Given the description of an element on the screen output the (x, y) to click on. 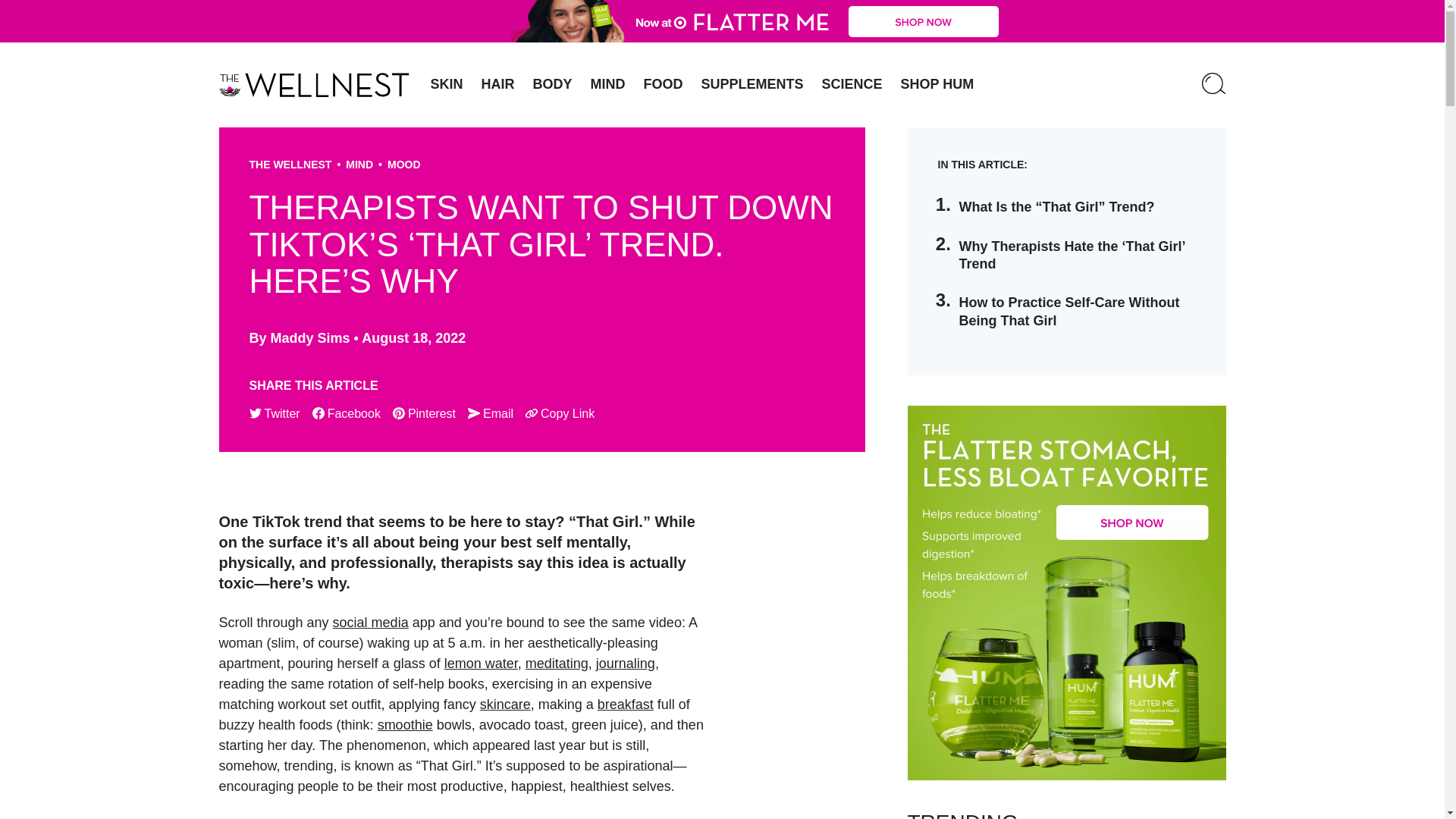
HUM Nutrition Blog (721, 21)
MIND (607, 84)
SUPPLEMENTS (752, 84)
SHOP HUM (937, 84)
MIND (359, 164)
HAIR (497, 84)
FOOD (663, 84)
MOOD (403, 164)
BODY (552, 84)
Twitter (273, 414)
SKIN (446, 84)
Maddy Sims (310, 337)
Search (1213, 84)
HUM Nutrition Blog (313, 84)
SCIENCE (851, 84)
